Given the description of an element on the screen output the (x, y) to click on. 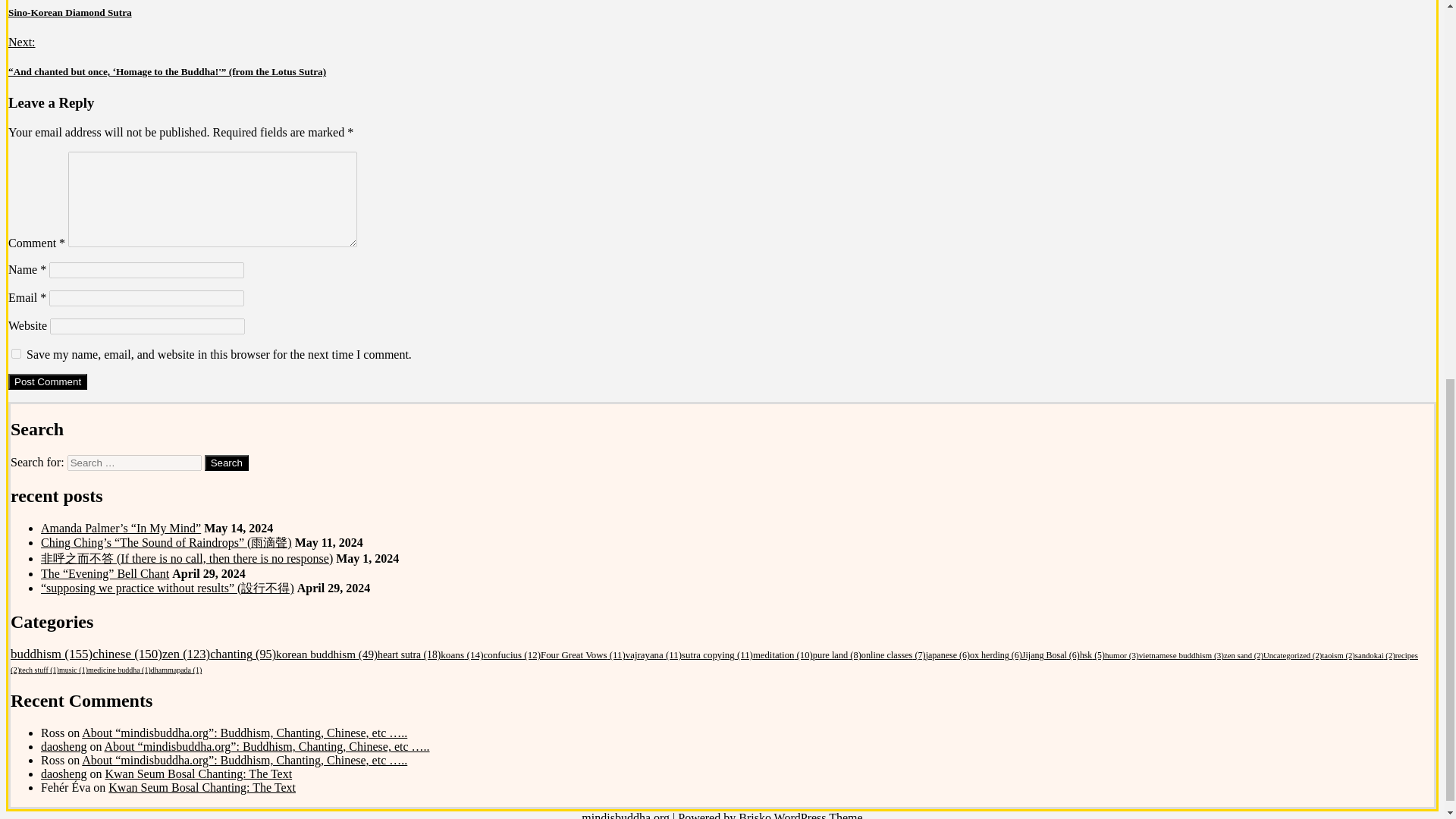
Post Comment (47, 381)
Search (226, 462)
Post Comment (47, 381)
Search (226, 462)
yes (16, 353)
Search (226, 462)
